Given the description of an element on the screen output the (x, y) to click on. 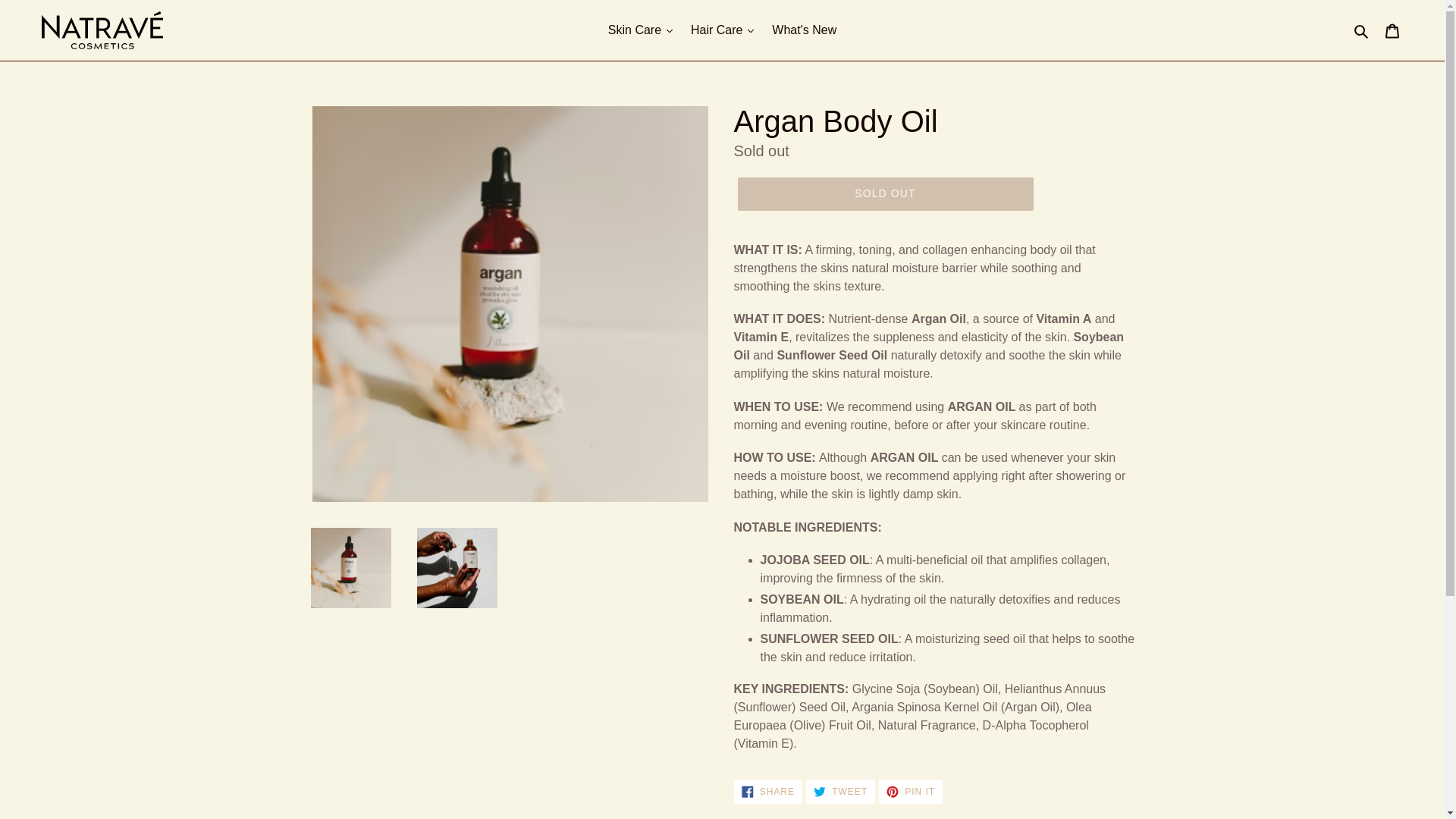
SOLD OUT (884, 193)
Cart (910, 791)
Submit (840, 791)
What's New (1392, 30)
